Given the description of an element on the screen output the (x, y) to click on. 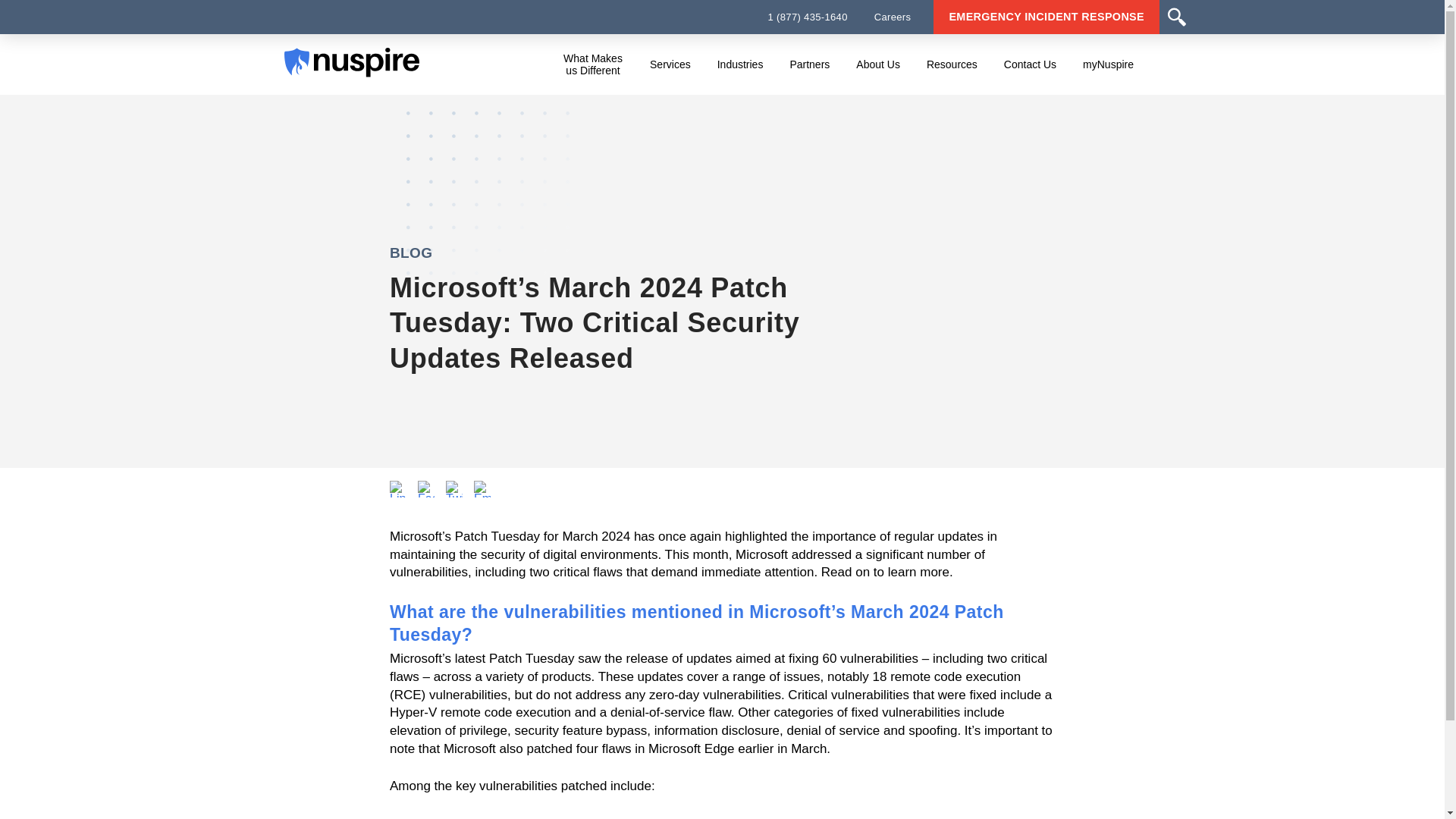
Facebook (425, 488)
About Us (877, 64)
LinkedIn (398, 488)
Industries (739, 64)
Email (482, 488)
What Makes us Different (592, 64)
Careers (892, 17)
Services (669, 64)
EMERGENCY INCIDENT RESPONSE (1045, 17)
Partners (809, 64)
Twitter (454, 488)
